Given the description of an element on the screen output the (x, y) to click on. 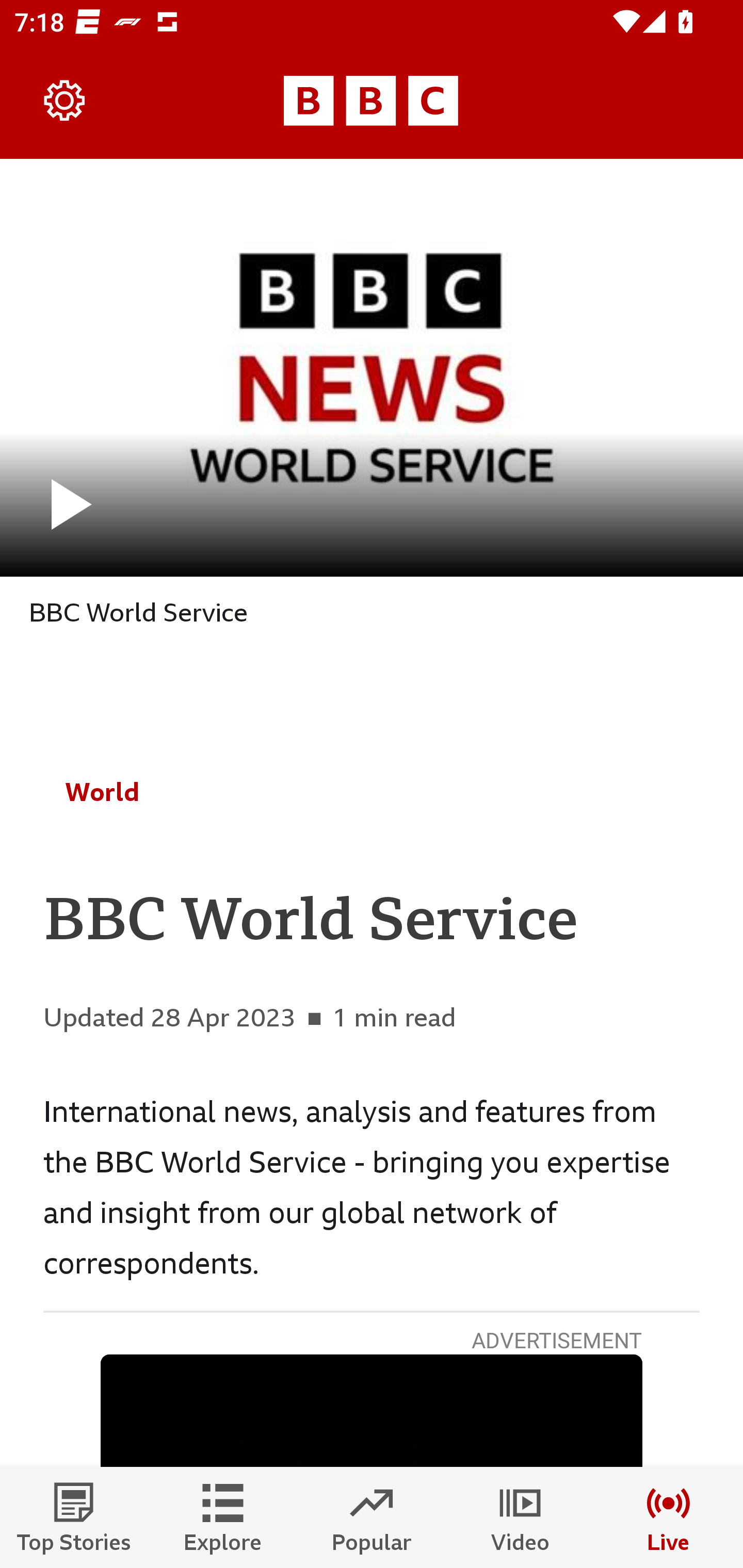
Settings (64, 100)
play fullscreen (371, 367)
World (102, 791)
Top Stories (74, 1517)
Explore (222, 1517)
Popular (371, 1517)
Video (519, 1517)
